Given the description of an element on the screen output the (x, y) to click on. 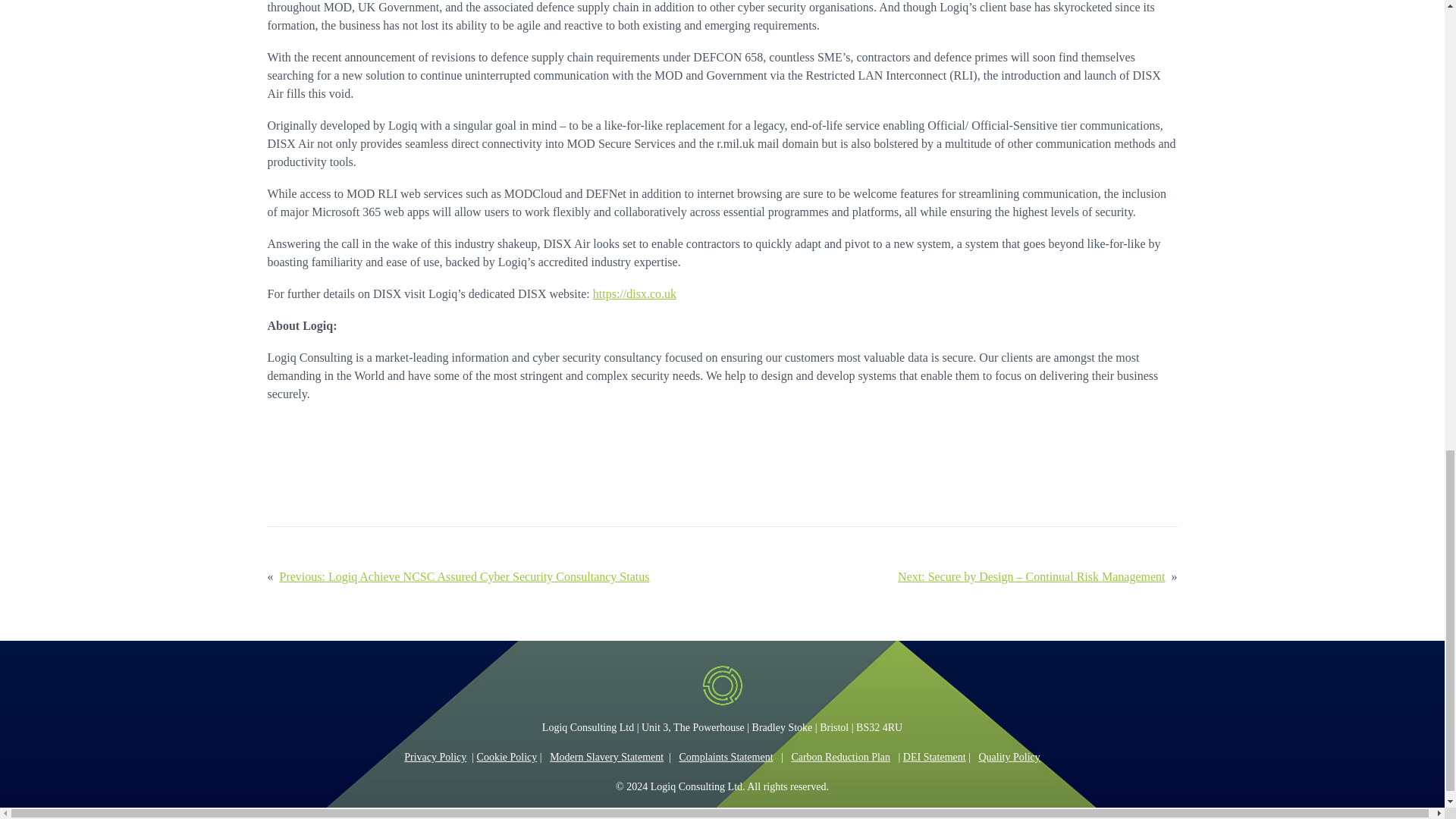
Quality Policy (1008, 756)
Carbon Reduction Plan (839, 756)
Complaints Statement (726, 756)
Modern Slavery Statement (606, 756)
DEI Statement (934, 756)
Cookie Policy (507, 756)
Privacy Policy (434, 756)
